Given the description of an element on the screen output the (x, y) to click on. 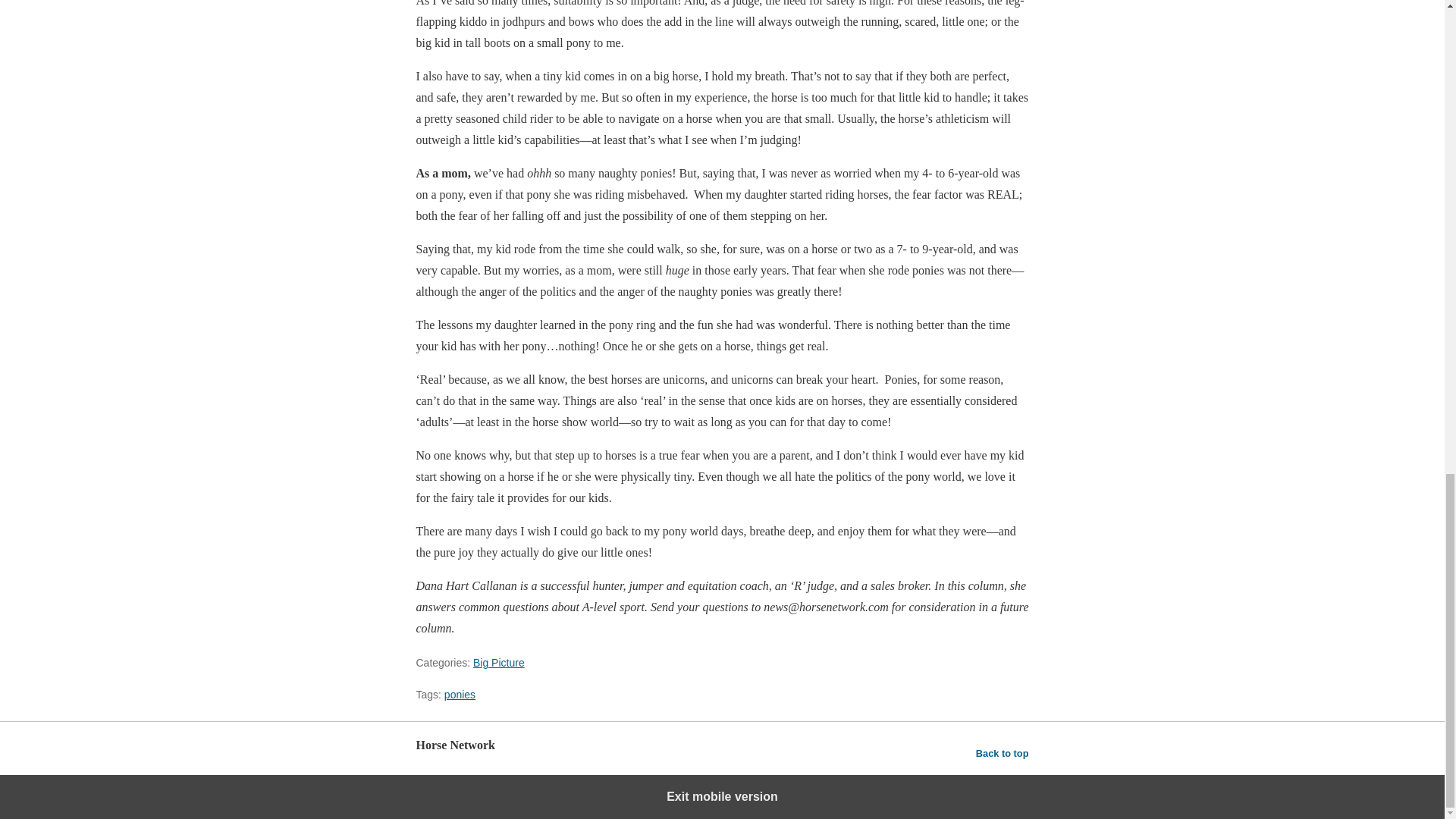
Big Picture (498, 662)
Back to top (1002, 753)
ponies (460, 694)
